Given the description of an element on the screen output the (x, y) to click on. 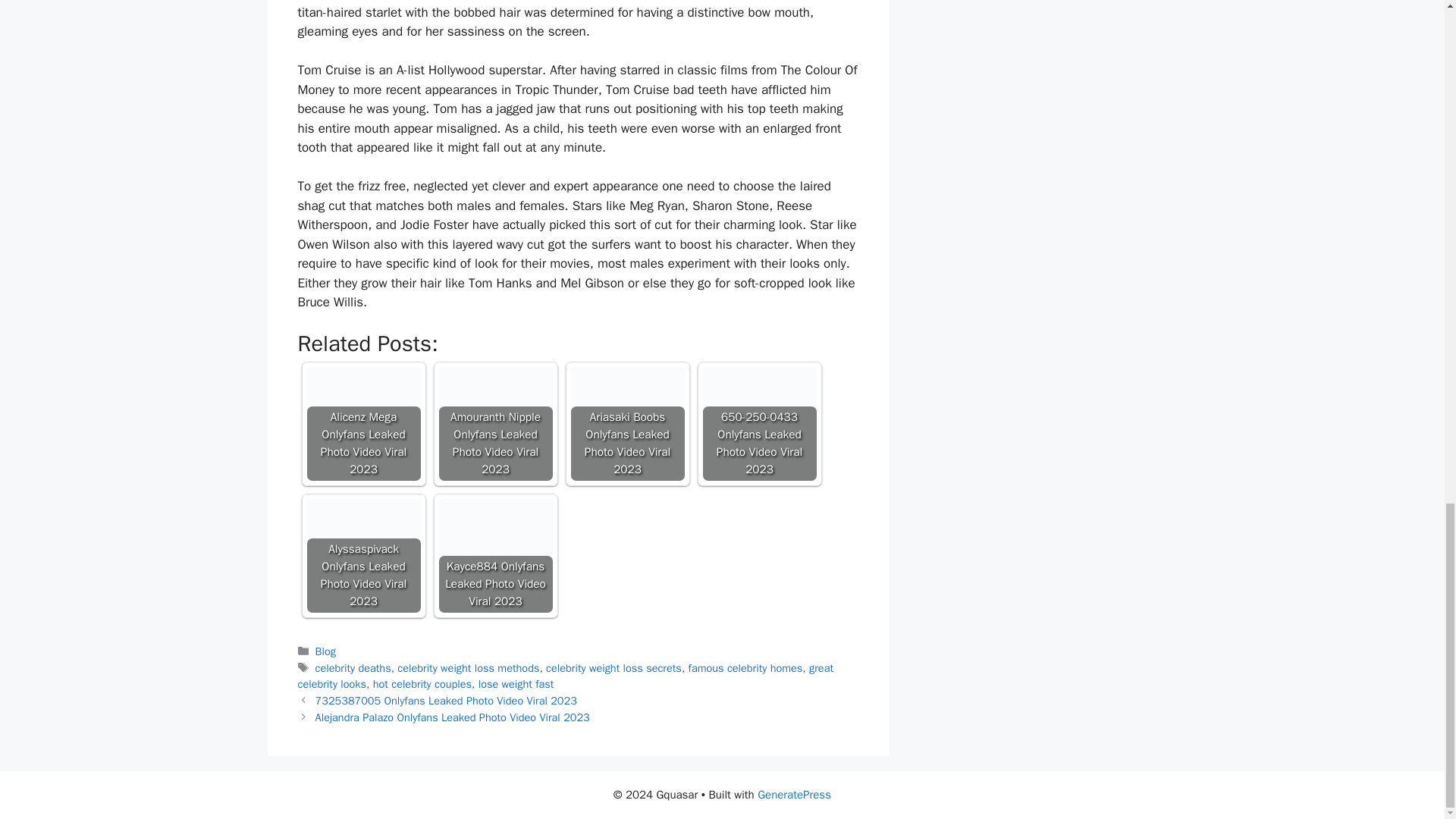
Amouranth Nipple Onlyfans Leaked Photo Video Viral 2023 (494, 423)
GeneratePress (794, 794)
Alyssaspivack Onlyfans Leaked Photo Video Viral 2023 (362, 555)
650-250-0433 Onlyfans Leaked Photo Video Viral 2023 (758, 423)
650-250-0433 Onlyfans Leaked Photo Video Viral 2023 (758, 423)
great celebrity looks (564, 675)
Alyssaspivack  Onlyfans Leaked Photo Video Viral 2023 (362, 555)
7325387005 Onlyfans Leaked Photo Video Viral 2023 (445, 700)
Alicenz Mega Onlyfans Leaked Photo Video Viral 2023 (362, 423)
celebrity weight loss methods (467, 667)
